Given the description of an element on the screen output the (x, y) to click on. 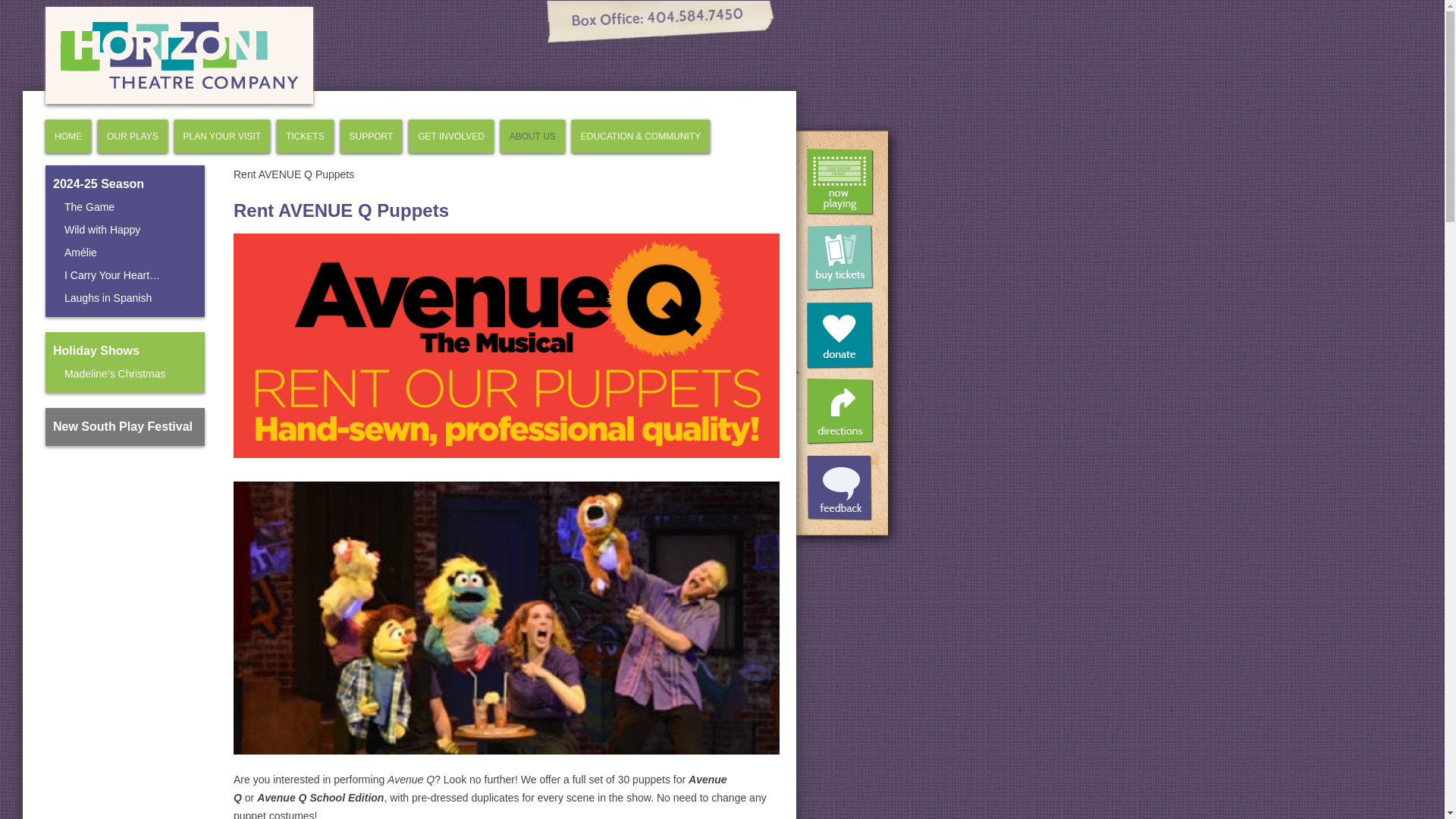
GET INVOLVED (450, 136)
OUR PLAYS (132, 136)
TICKETS (304, 136)
PLAN YOUR VISIT (221, 136)
SUPPORT (371, 136)
HOME (68, 136)
